Given the description of an element on the screen output the (x, y) to click on. 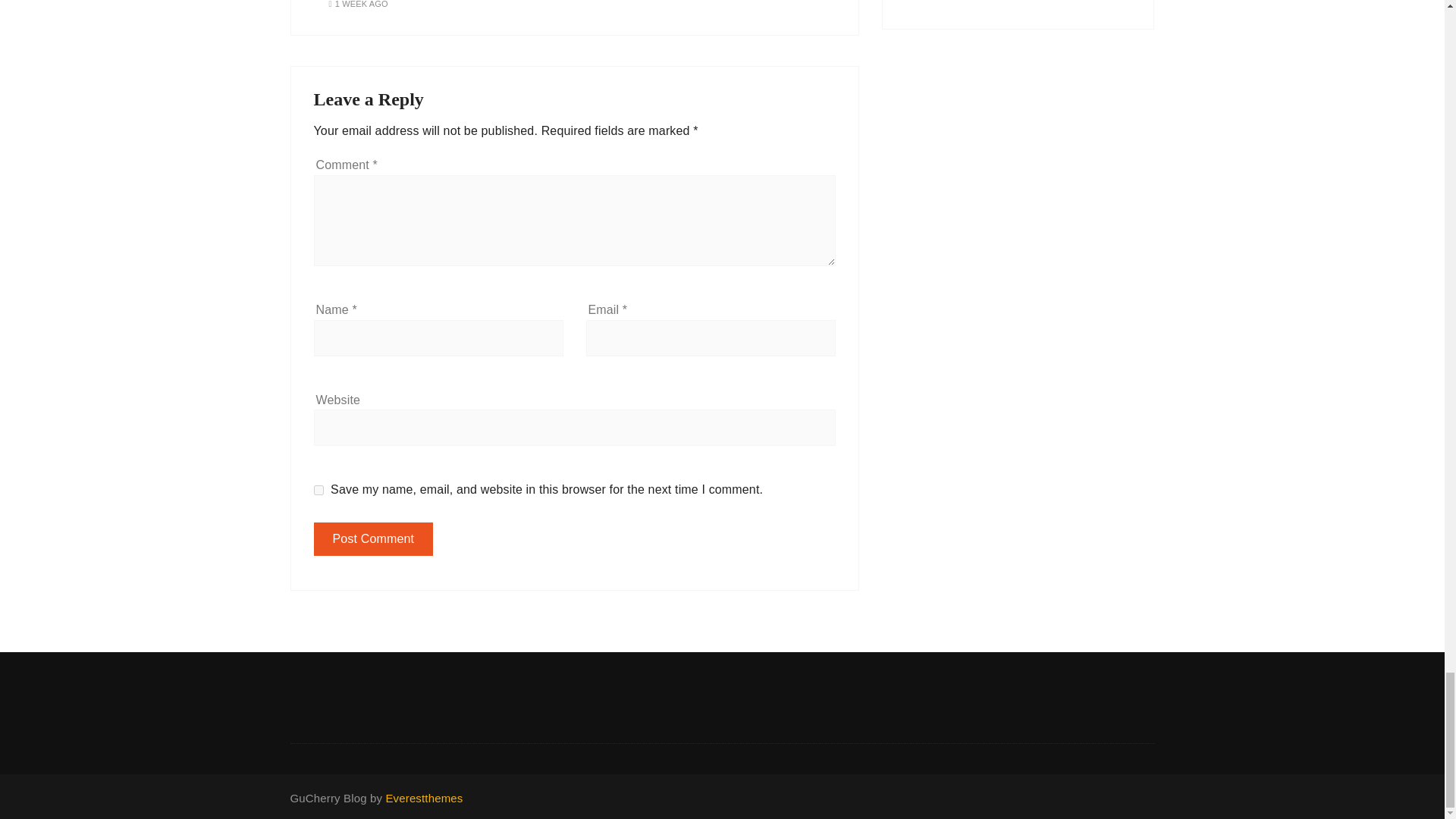
yes (318, 490)
Post Comment (373, 539)
Post Comment (373, 539)
